Given the description of an element on the screen output the (x, y) to click on. 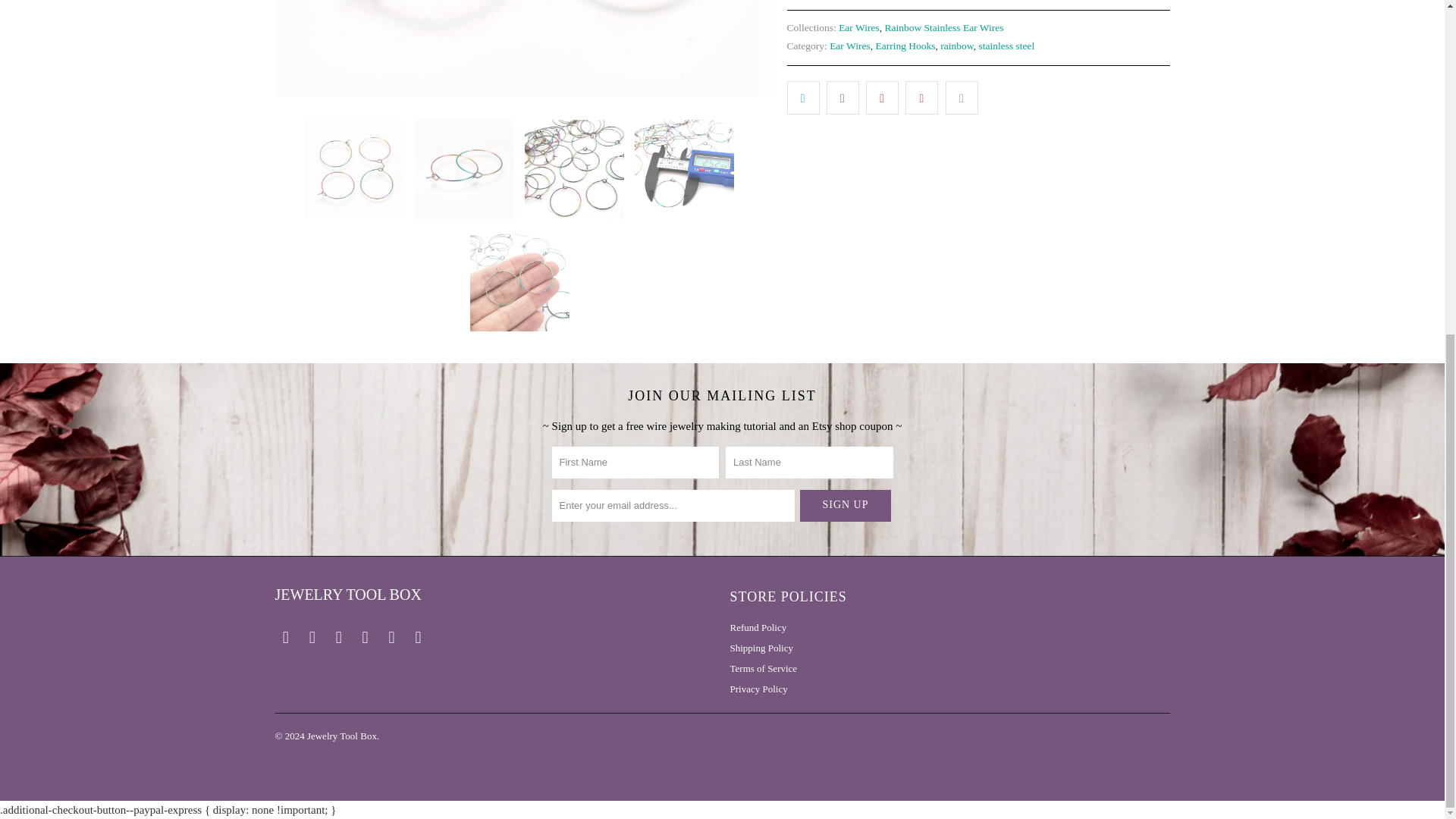
Ear Wires (858, 27)
Rainbow Stainless Ear Wires (943, 27)
Sign Up (845, 505)
